Given the description of an element on the screen output the (x, y) to click on. 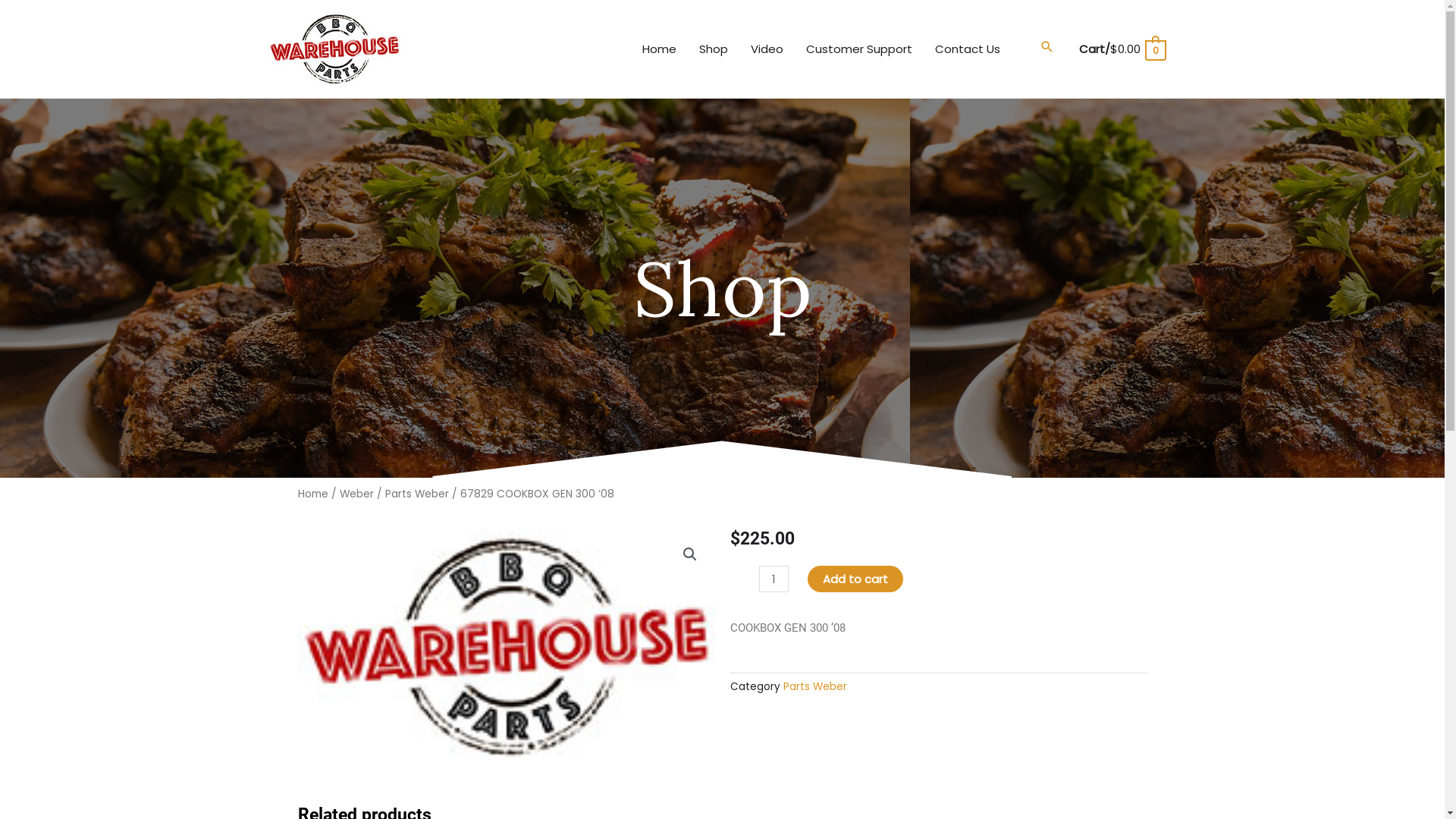
Customer Support Element type: text (858, 49)
Parts Weber Element type: text (814, 686)
Parts Weber Element type: text (416, 493)
Add to cart Element type: text (855, 578)
Contact Us Element type: text (967, 49)
Video Element type: text (766, 49)
Qty Element type: hover (772, 578)
Home Element type: text (312, 493)
bbq-parts-logo Element type: hover (505, 647)
Shop Element type: text (713, 49)
Home Element type: text (658, 49)
Weber Element type: text (356, 493)
Cart/$0.00 0 Element type: text (1121, 48)
